Given the description of an element on the screen output the (x, y) to click on. 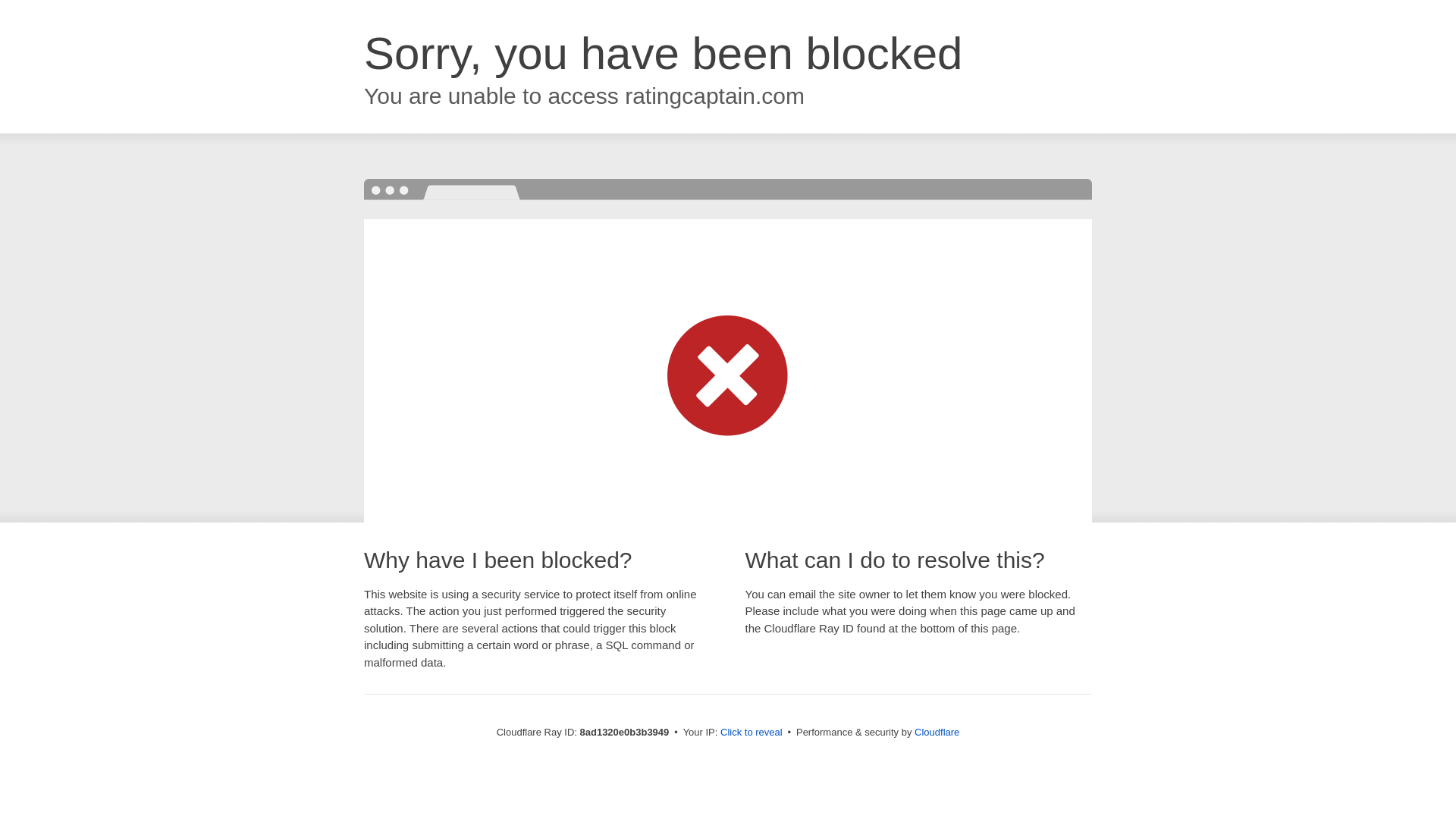
Click to reveal (751, 732)
Cloudflare (936, 731)
